Given the description of an element on the screen output the (x, y) to click on. 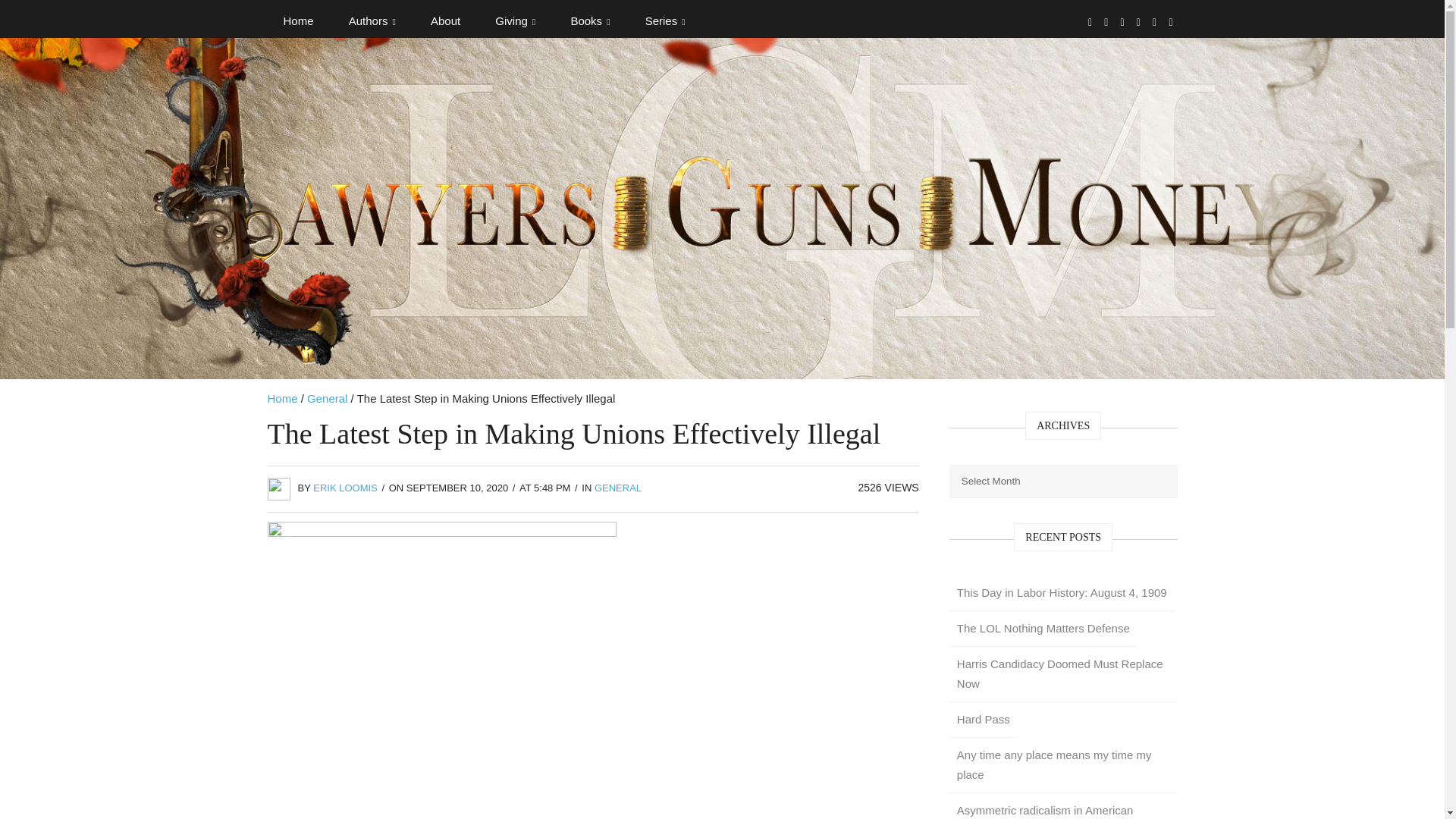
Authors (372, 21)
Home (297, 21)
Posts by Erik Loomis (345, 487)
Books (590, 21)
Giving (515, 21)
About (445, 21)
